Given the description of an element on the screen output the (x, y) to click on. 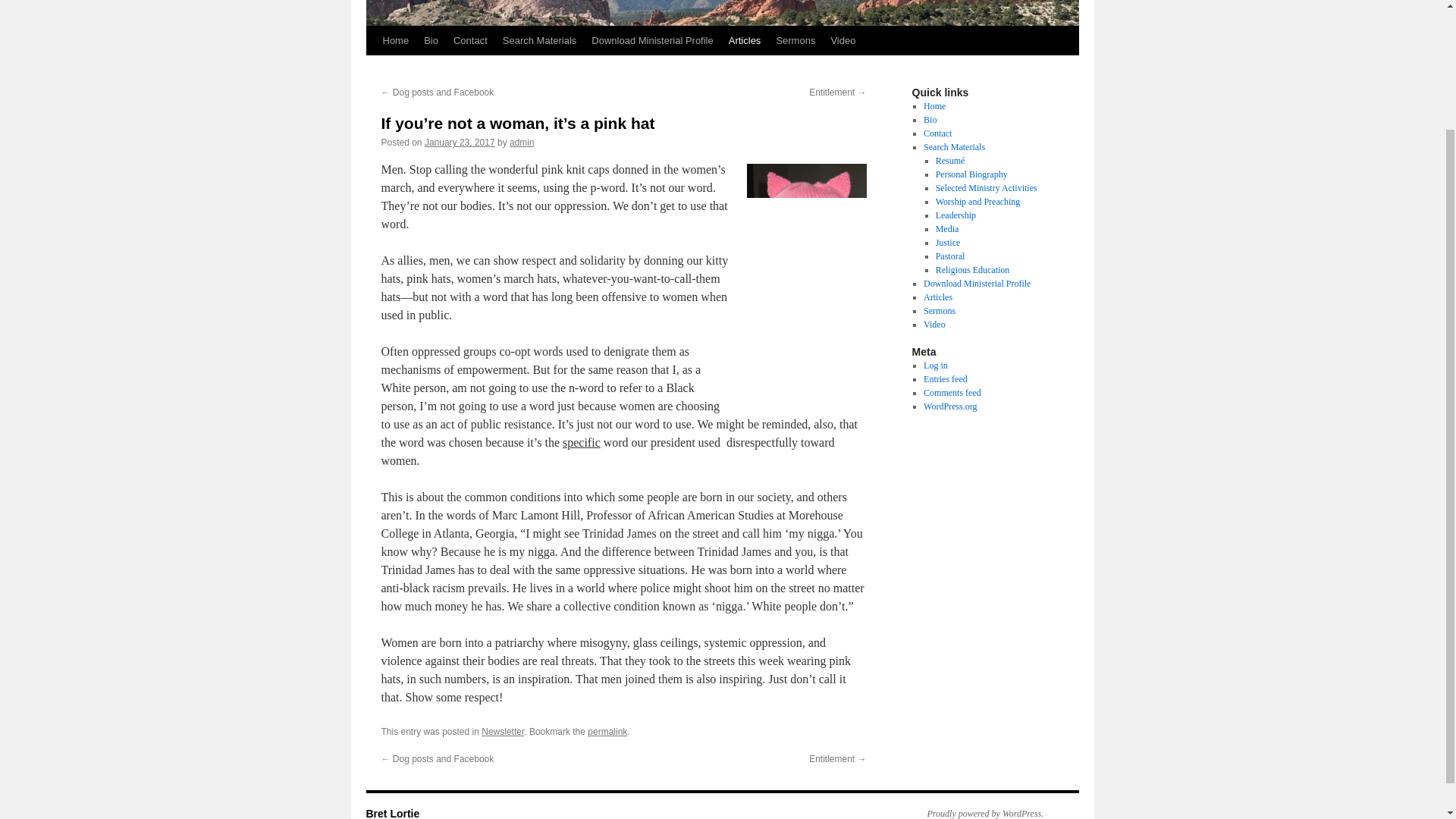
Contact (937, 132)
Home (933, 105)
January 23, 2017 (460, 142)
View all posts by admin (521, 142)
Home (395, 40)
Contact (470, 40)
permalink (607, 731)
Bio (430, 40)
Newsletter (502, 731)
5:49 pm (460, 142)
Selected Ministry Activities (986, 187)
Search Materials (540, 40)
Pastoral (950, 255)
Bio (929, 119)
Download Ministerial Profile (651, 40)
